Given the description of an element on the screen output the (x, y) to click on. 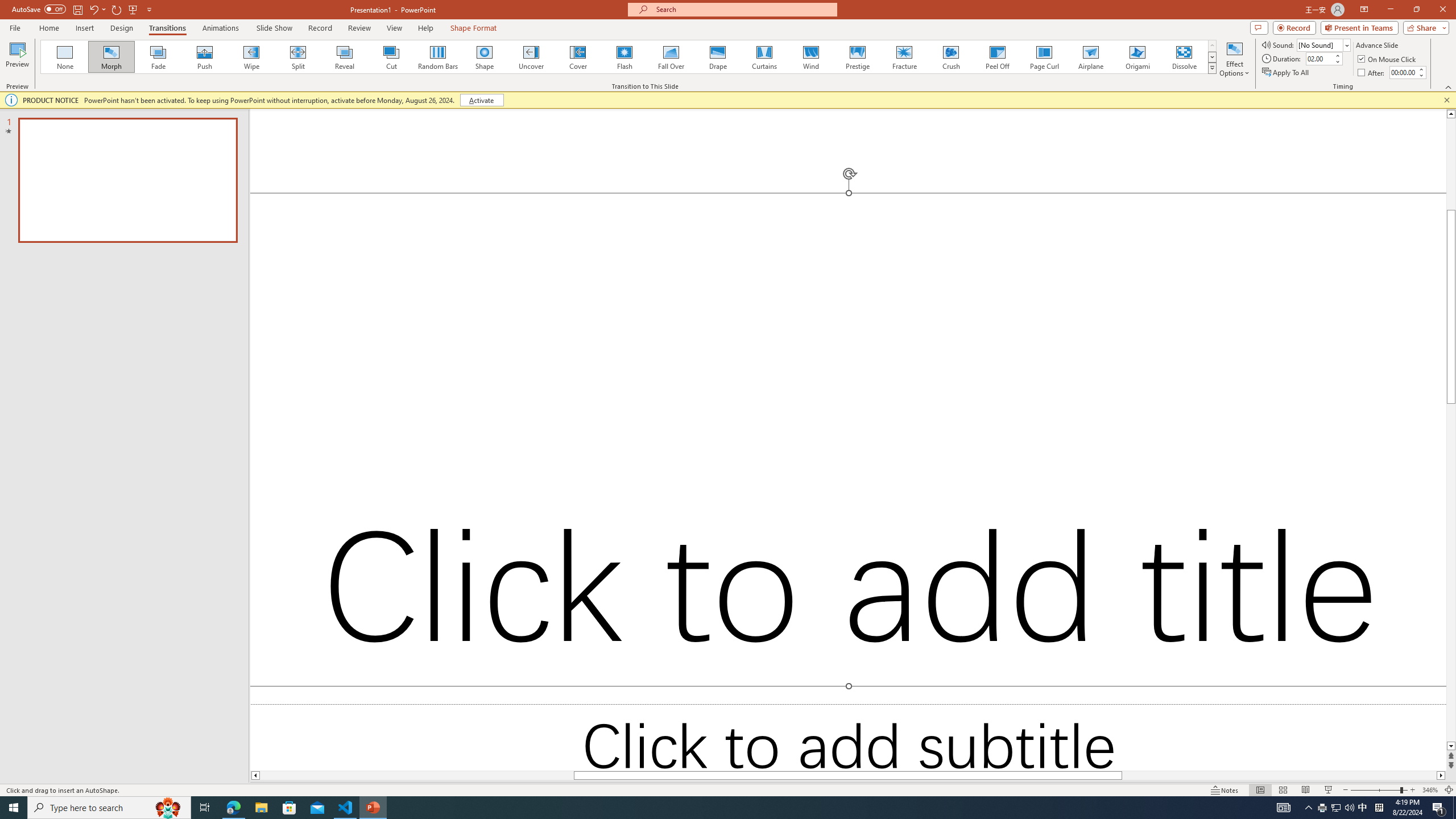
Fracture (903, 56)
None (65, 56)
After (1403, 72)
Transition Effects (1212, 67)
Fade (158, 56)
Crush (950, 56)
Origami (1136, 56)
